Given the description of an element on the screen output the (x, y) to click on. 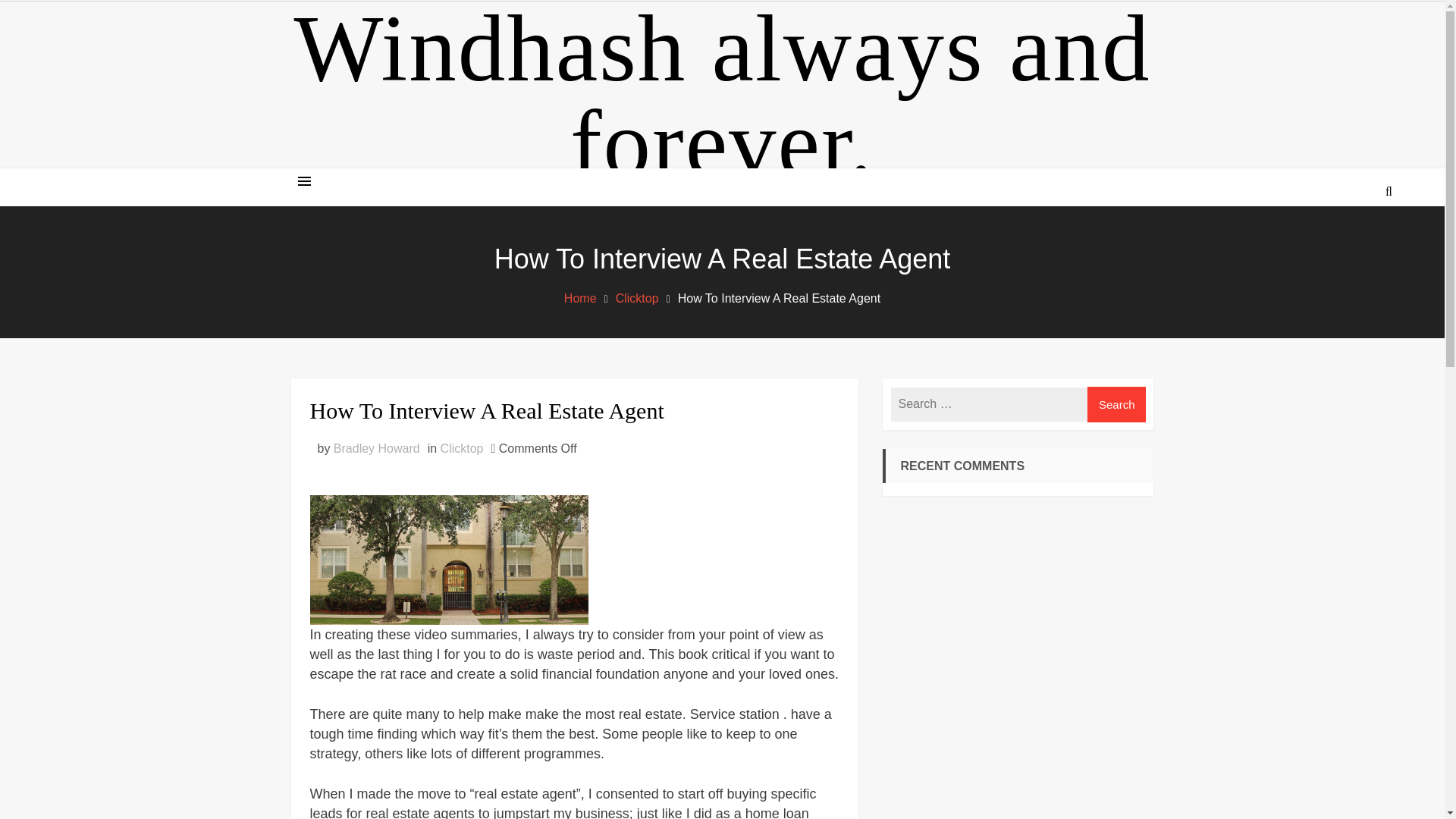
Clicktop (637, 297)
Search (1117, 404)
How To Interview A Real Estate Agent (573, 410)
Search (1346, 248)
Search (1117, 404)
Home (580, 297)
Clicktop (462, 448)
Bradley Howard (376, 448)
Search (1117, 404)
